Given the description of an element on the screen output the (x, y) to click on. 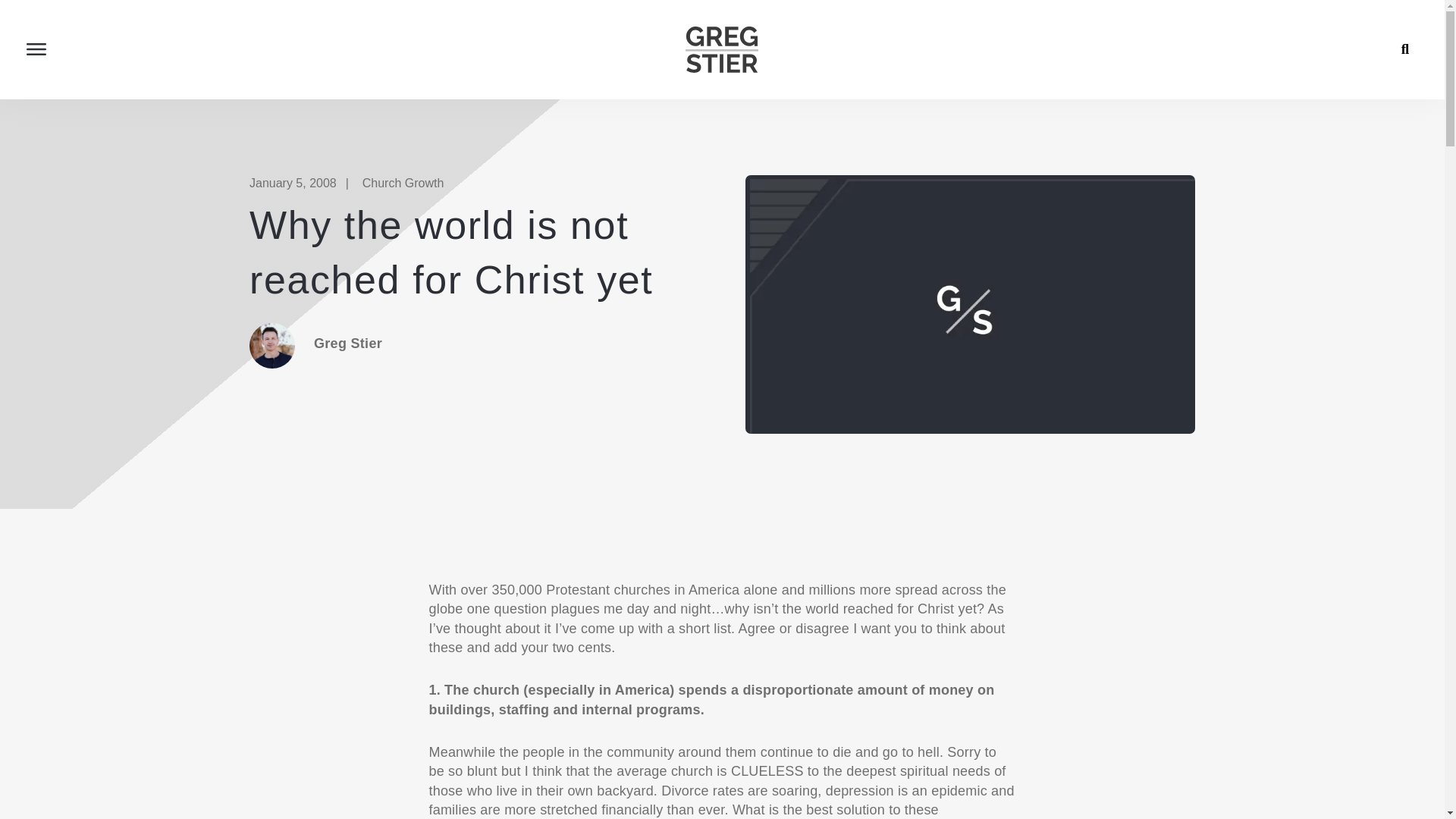
Church Growth (403, 182)
